Given the description of an element on the screen output the (x, y) to click on. 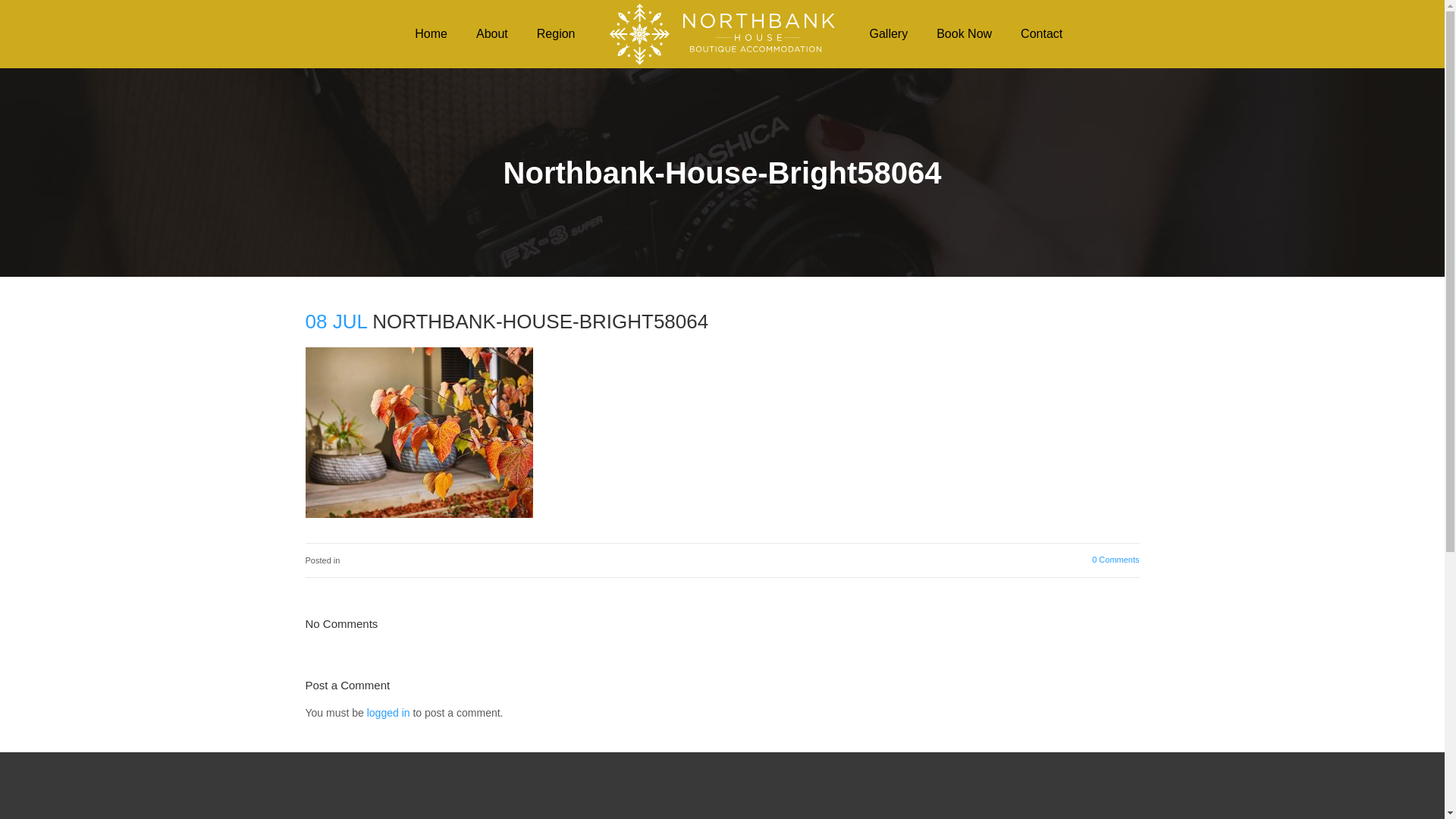
Region Element type: text (555, 34)
Home Element type: text (430, 34)
About Element type: text (491, 34)
Contact Element type: text (1041, 34)
logged in Element type: text (388, 712)
0 Comments Element type: text (1115, 559)
Book Now Element type: text (964, 34)
Gallery Element type: text (888, 34)
